Given the description of an element on the screen output the (x, y) to click on. 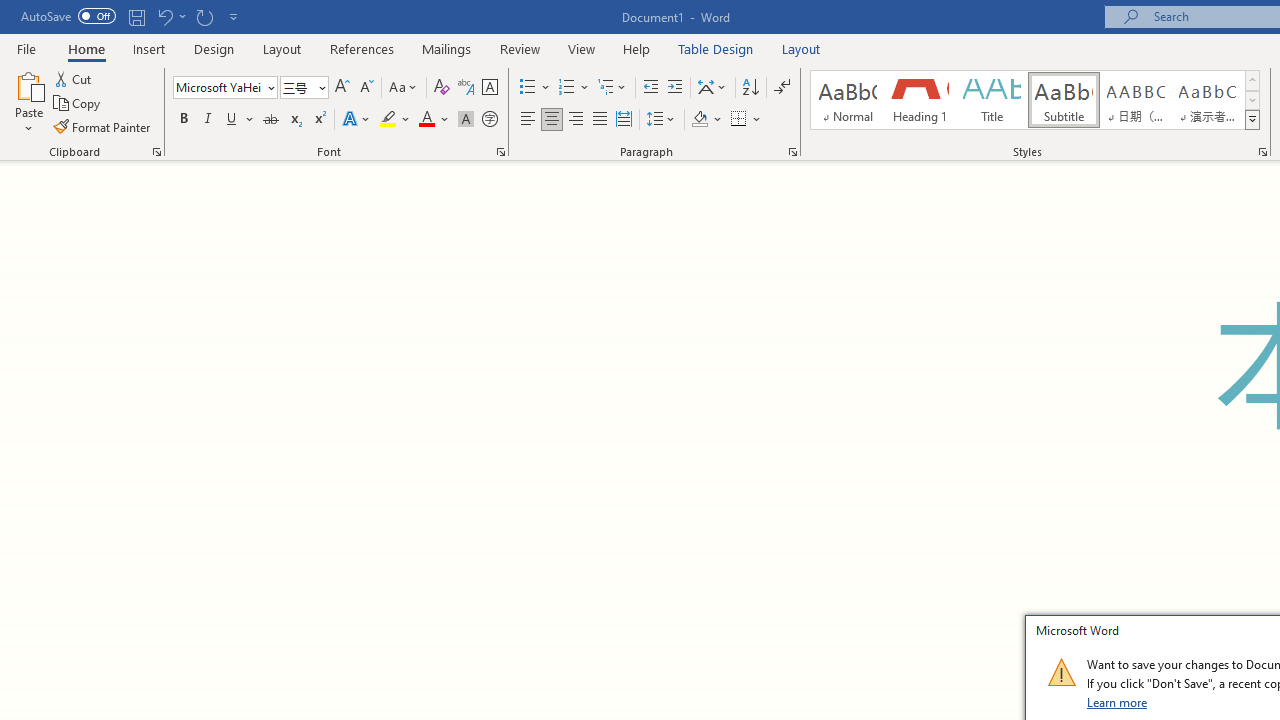
Superscript (319, 119)
Show/Hide Editing Marks (781, 87)
Title (991, 100)
Bold (183, 119)
Cut (73, 78)
Clear Formatting (442, 87)
Align Right (575, 119)
Heading 1 (920, 100)
AutomationID: QuickStylesGallery (1035, 99)
